Given the description of an element on the screen output the (x, y) to click on. 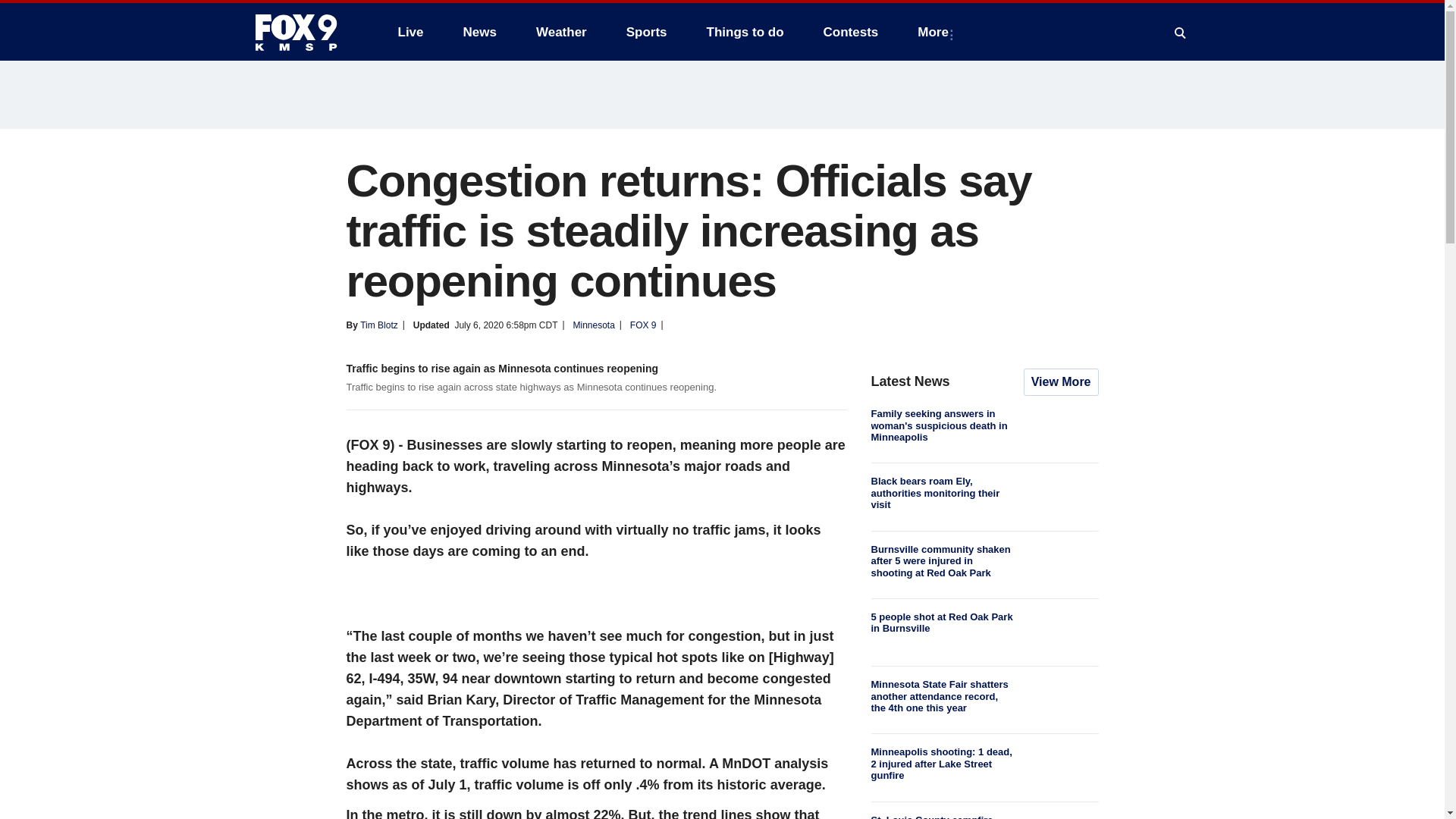
Weather (561, 32)
Live (410, 32)
News (479, 32)
Contests (850, 32)
Sports (646, 32)
Things to do (745, 32)
More (935, 32)
